Given the description of an element on the screen output the (x, y) to click on. 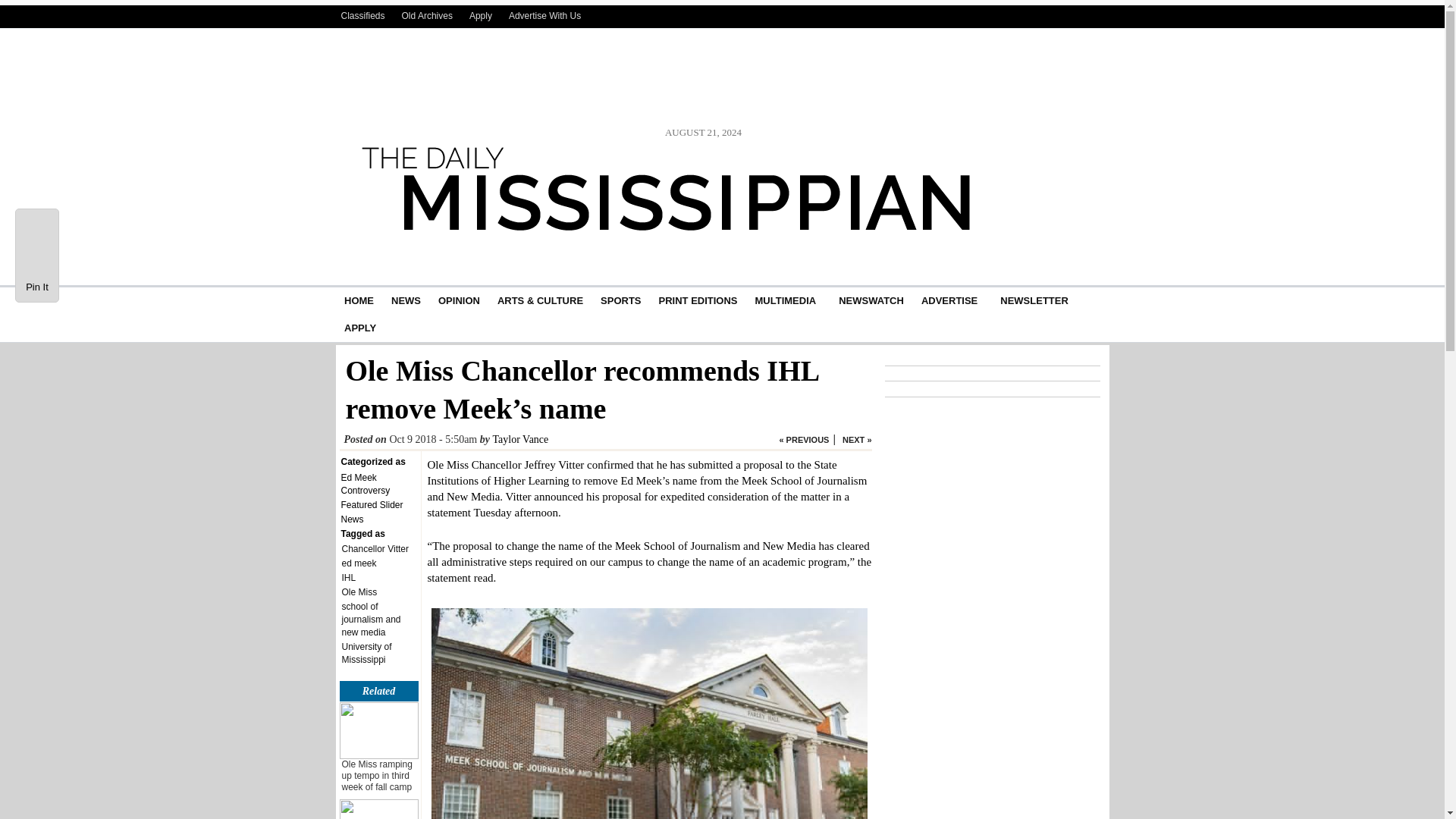
Ole Miss ramping up tempo in third week of fall camp (376, 775)
ADVERTISE (948, 300)
Classifieds (520, 439)
NEWSLETTER (362, 15)
rss (1034, 300)
Advertise With Us (1005, 15)
OPINION (544, 15)
facebook (458, 300)
NEWS (1097, 15)
